Given the description of an element on the screen output the (x, y) to click on. 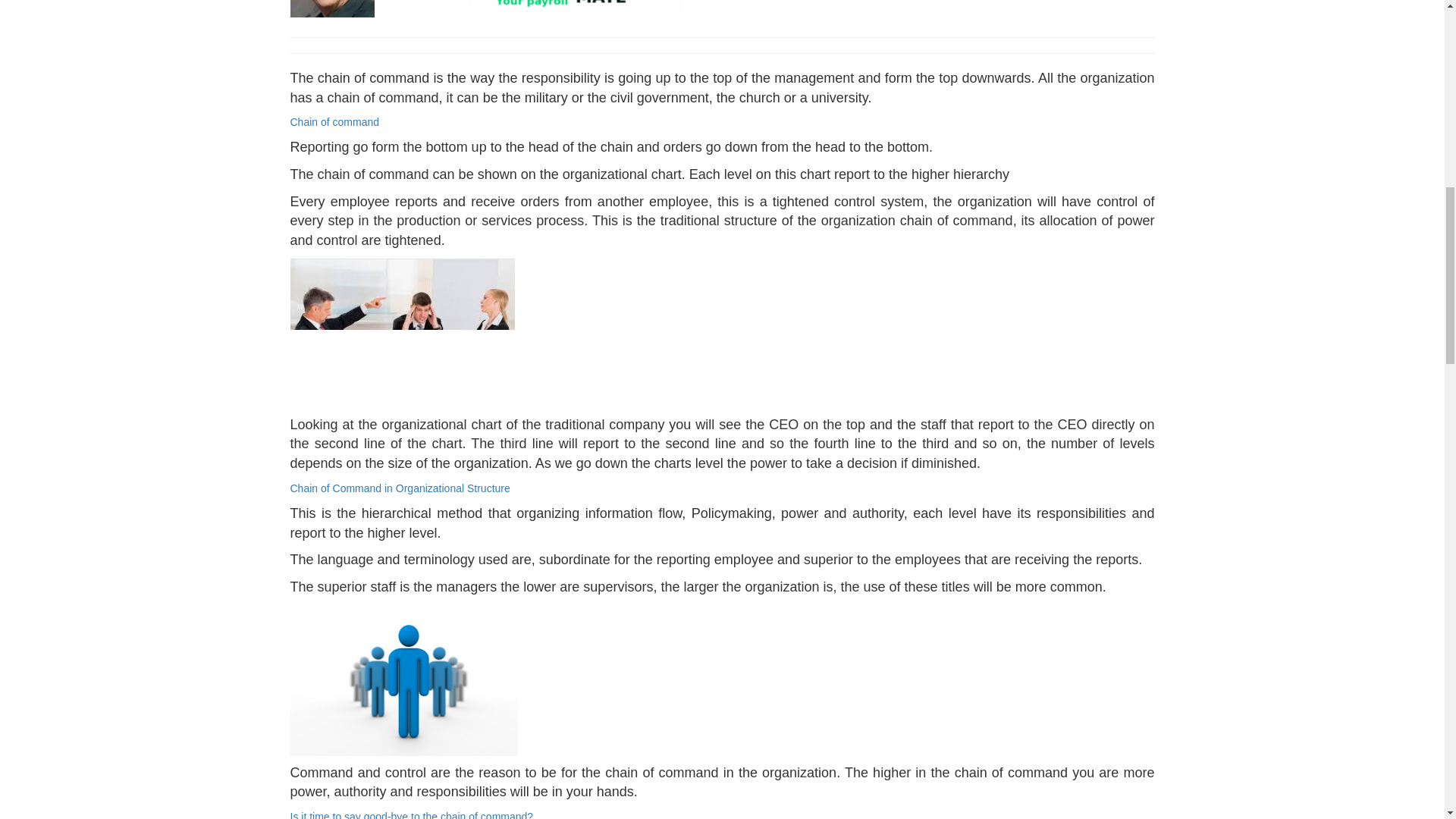
Chain of command (333, 121)
Chain of Command in Organizational Structure (399, 488)
Is it time to say good-bye to the chain of command? (410, 814)
